Given the description of an element on the screen output the (x, y) to click on. 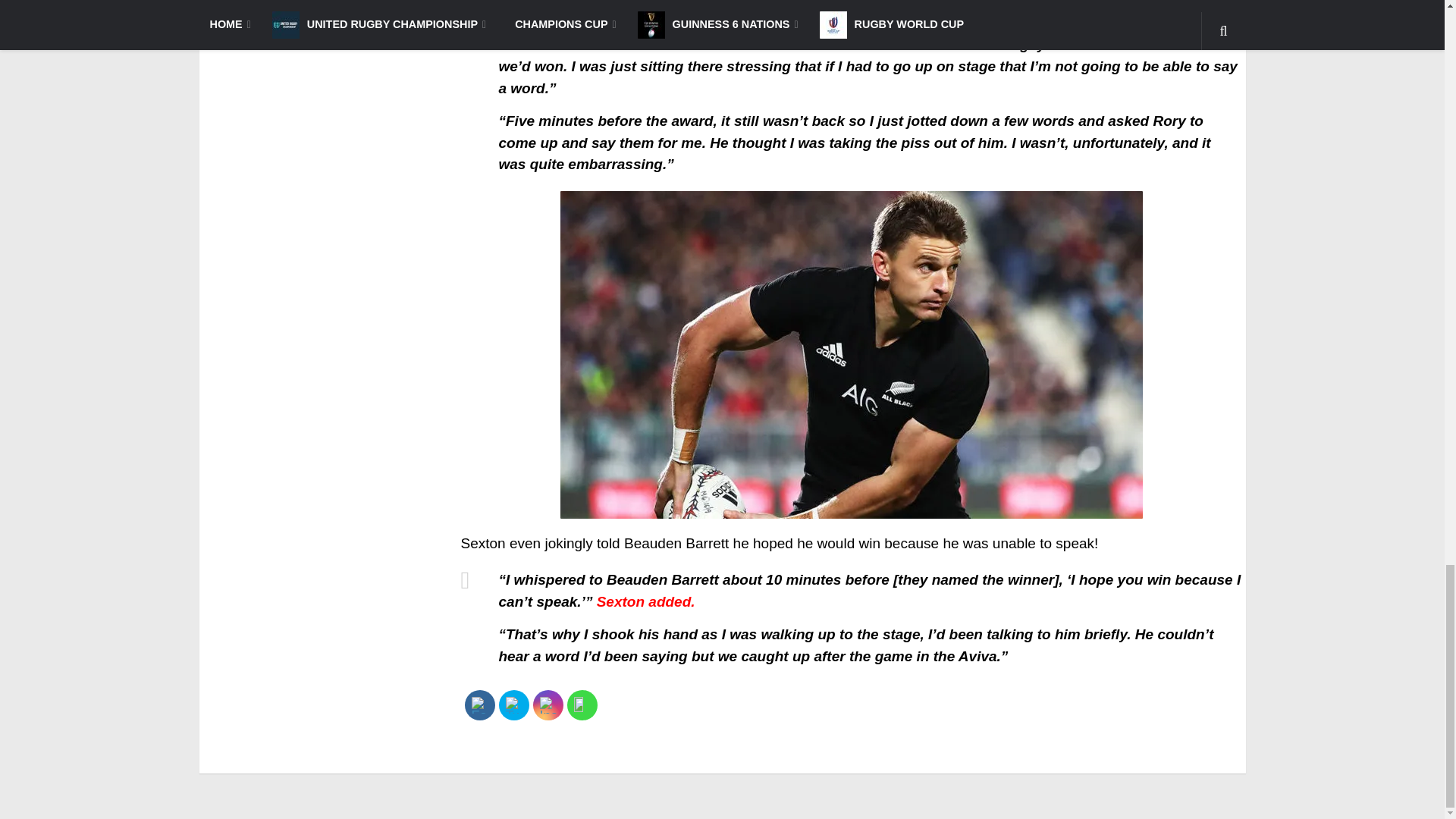
Facebook (479, 704)
Twitter (513, 704)
Instagram (548, 704)
